Given the description of an element on the screen output the (x, y) to click on. 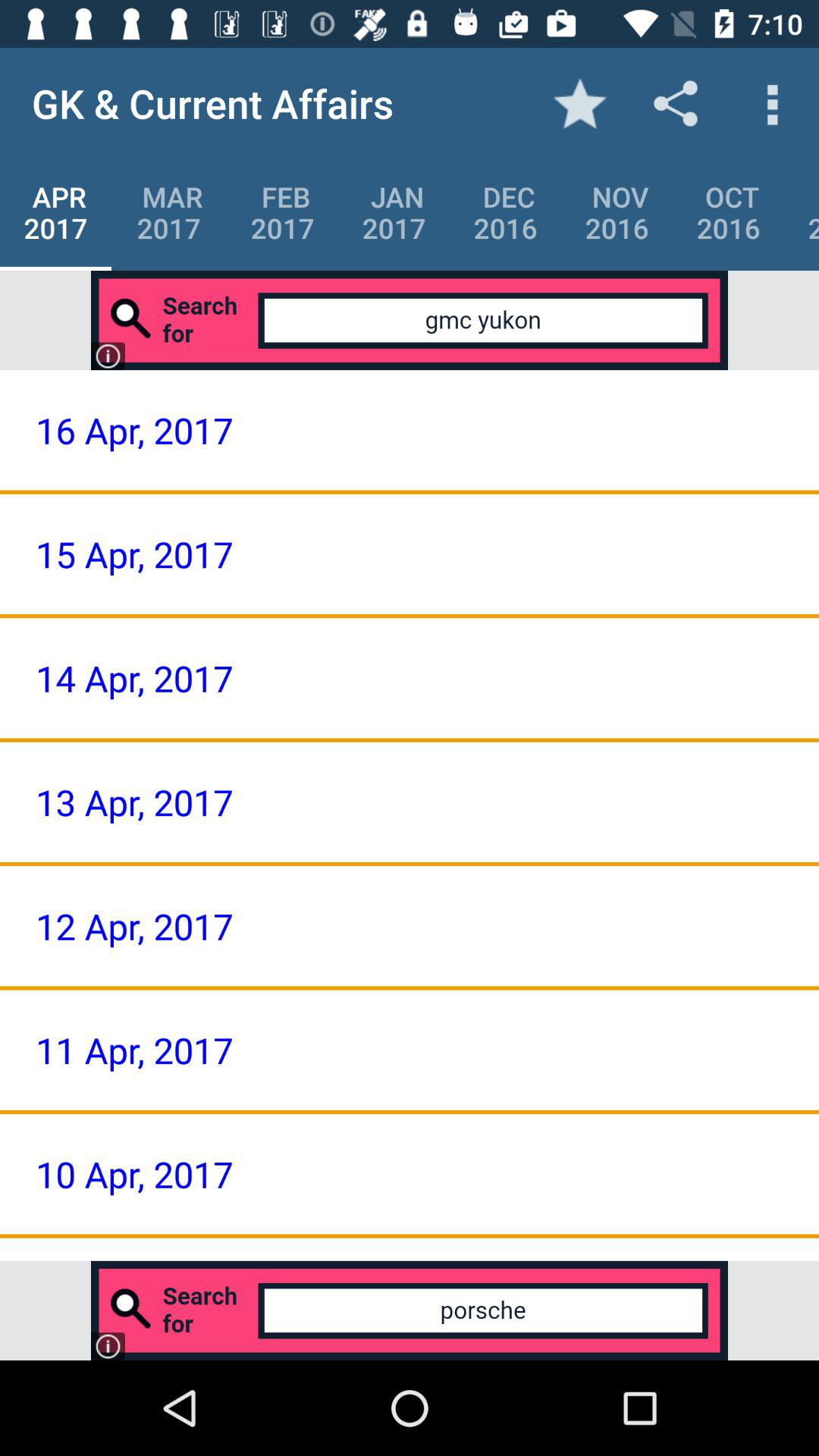
click item next to  apr
2017 (168, 212)
